Given the description of an element on the screen output the (x, y) to click on. 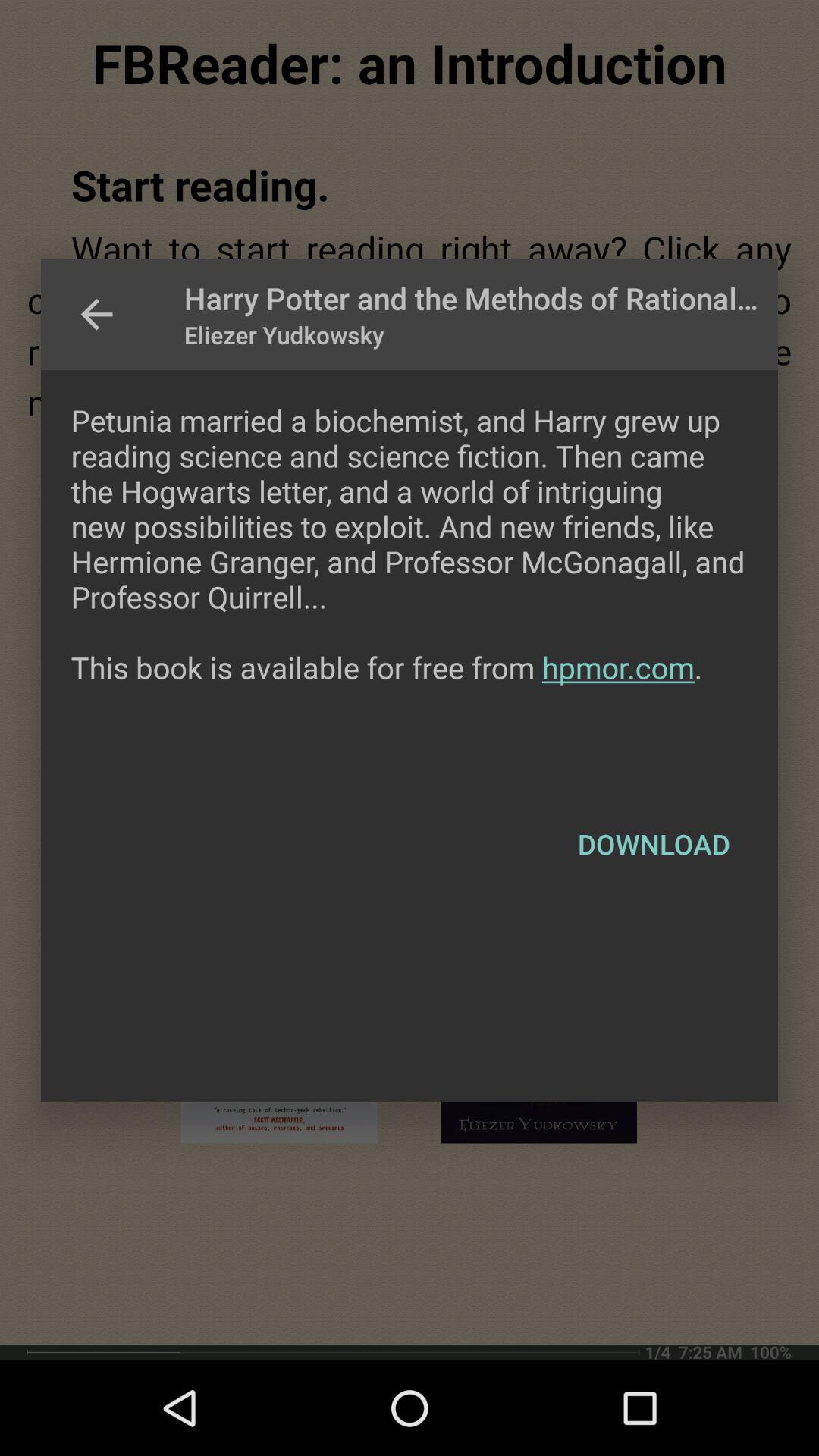
select download on the right (653, 843)
